Given the description of an element on the screen output the (x, y) to click on. 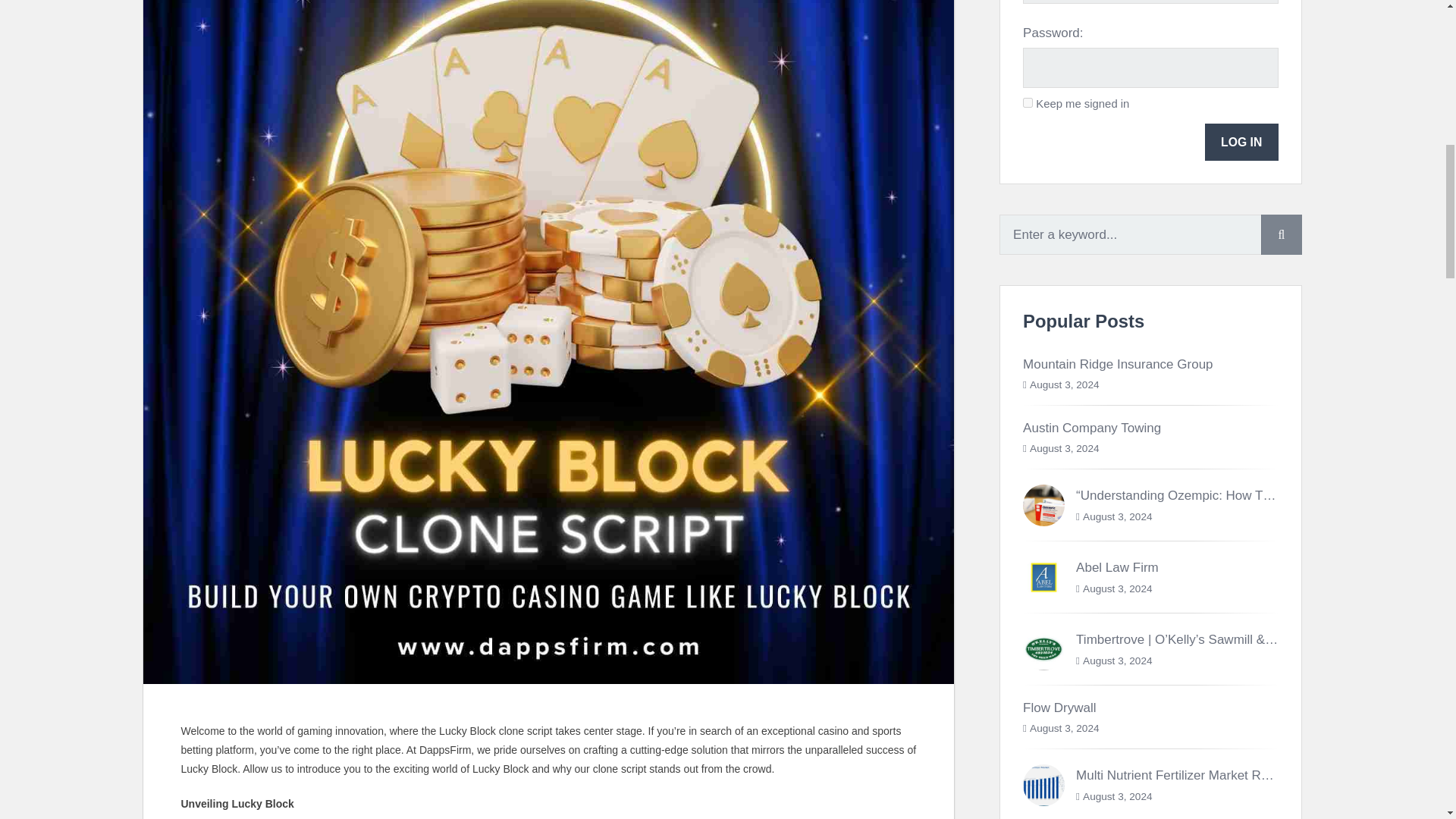
Abel Law Firm (1116, 567)
August 3, 2024 (1064, 448)
August 3, 2024 (1117, 588)
Austin Company Towing (1091, 427)
LOG IN (1241, 141)
Mountain Ridge Insurance Group (1117, 364)
August 3, 2024 (1064, 384)
forever (1027, 102)
August 3, 2024 (1117, 516)
